Given the description of an element on the screen output the (x, y) to click on. 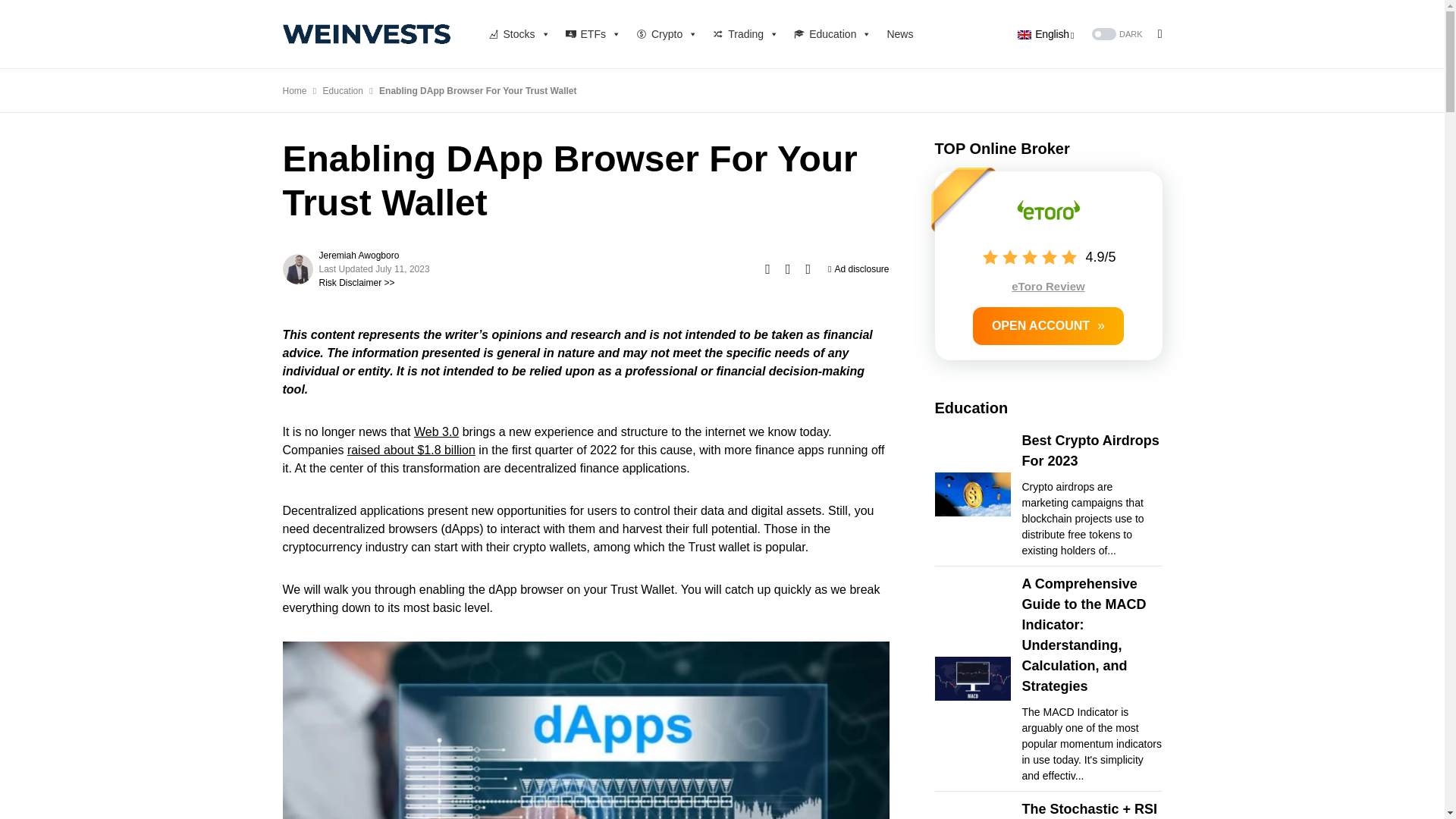
English (1045, 33)
